Given the description of an element on the screen output the (x, y) to click on. 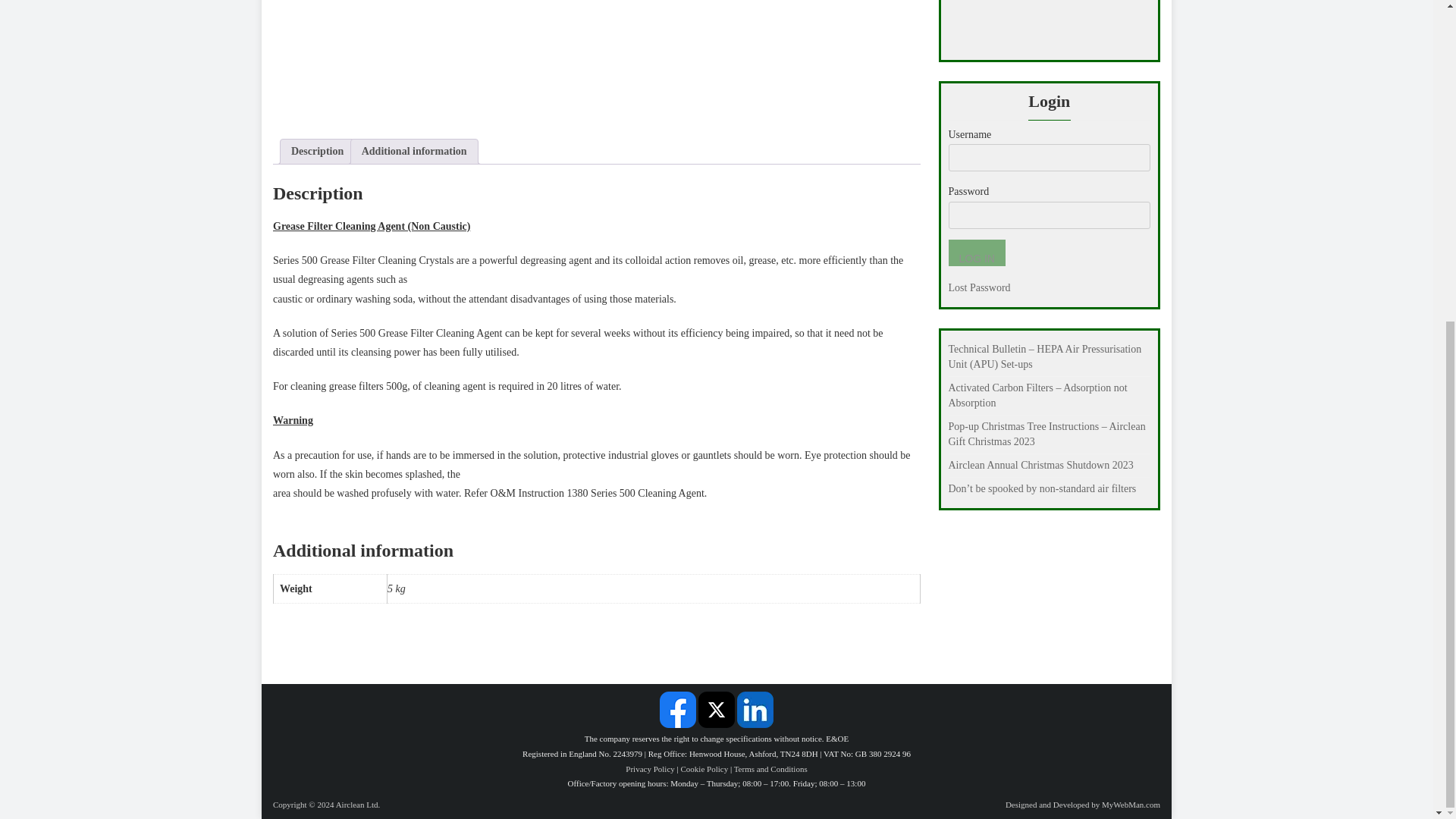
Log In (975, 252)
